Given the description of an element on the screen output the (x, y) to click on. 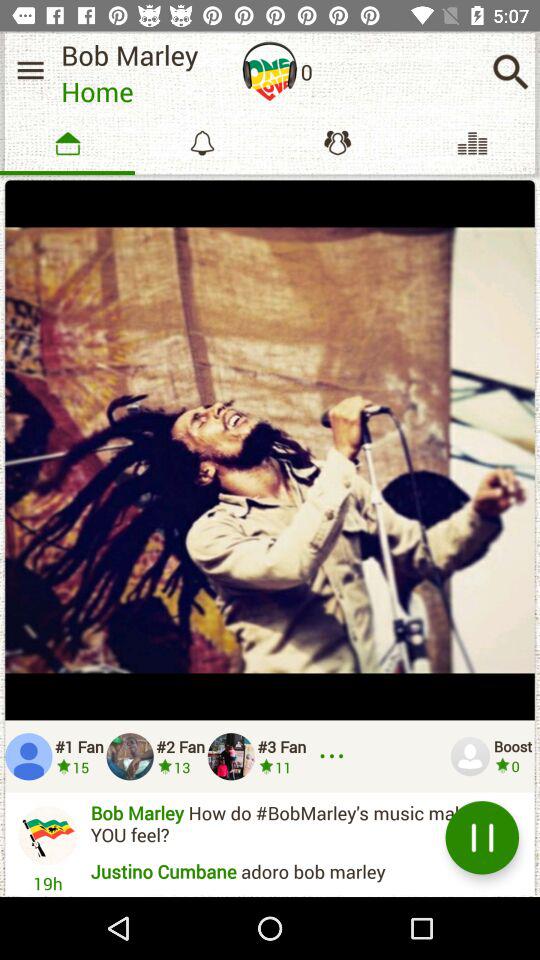
about app (269, 71)
